Given the description of an element on the screen output the (x, y) to click on. 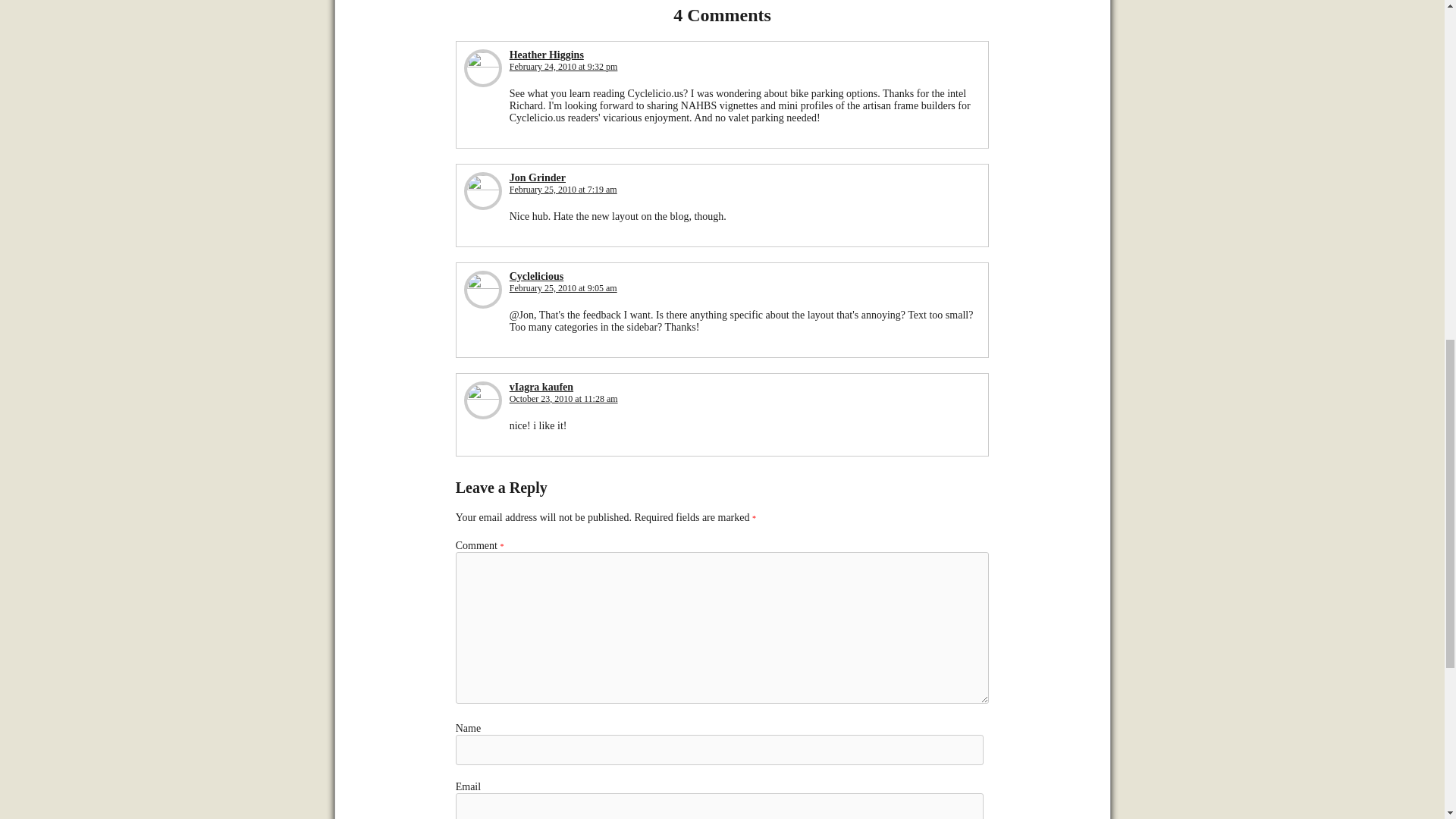
vIagra kaufen (541, 387)
Jon Grinder (537, 177)
February 25, 2010 at 7:19 am (563, 189)
February 25, 2010 at 9:05 am (563, 287)
Heather Higgins (546, 54)
February 24, 2010 at 9:32 pm (563, 66)
Cyclelicious (536, 276)
October 23, 2010 at 11:28 am (563, 398)
